Given the description of an element on the screen output the (x, y) to click on. 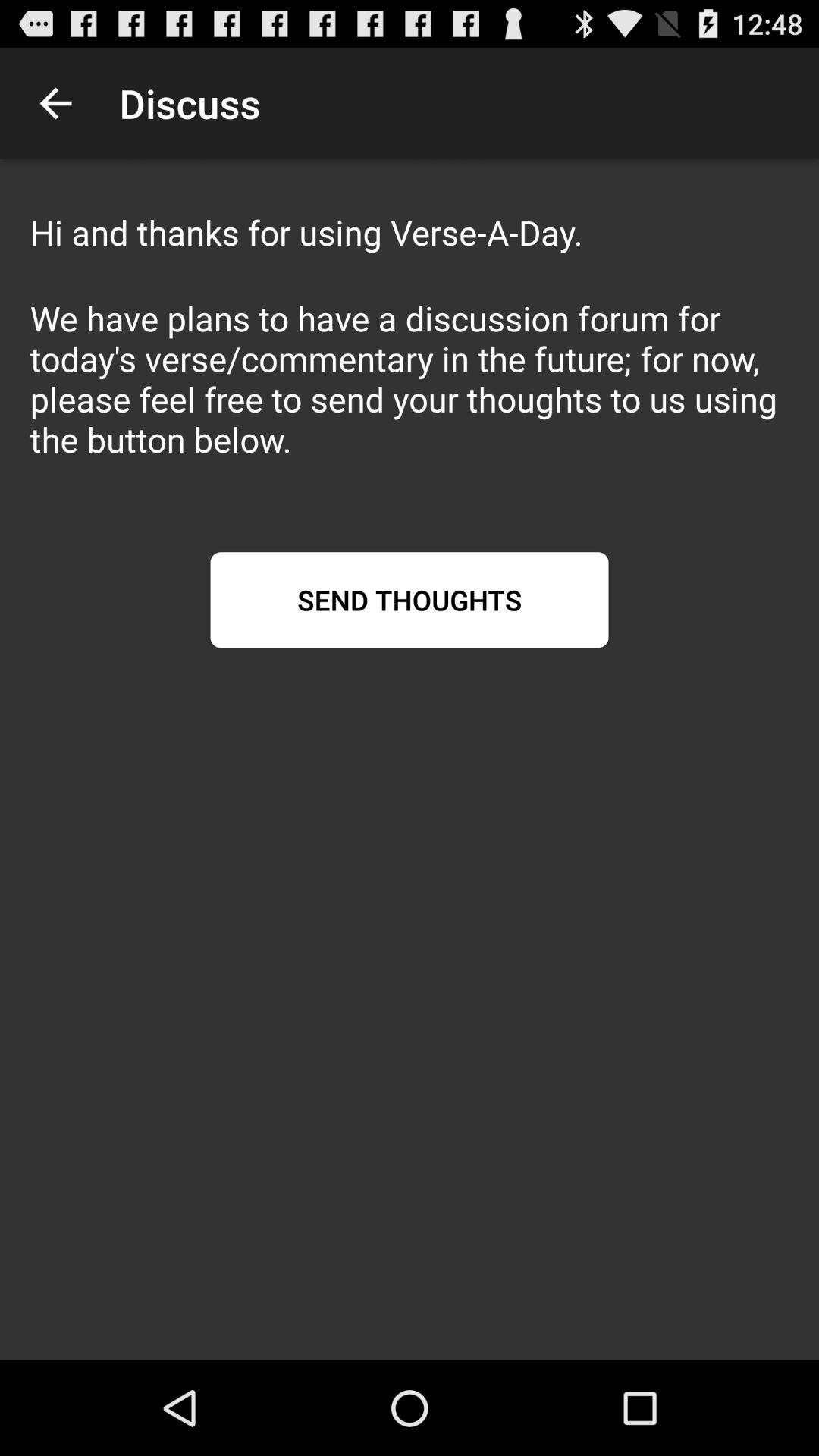
select icon above hi and thanks icon (55, 103)
